Given the description of an element on the screen output the (x, y) to click on. 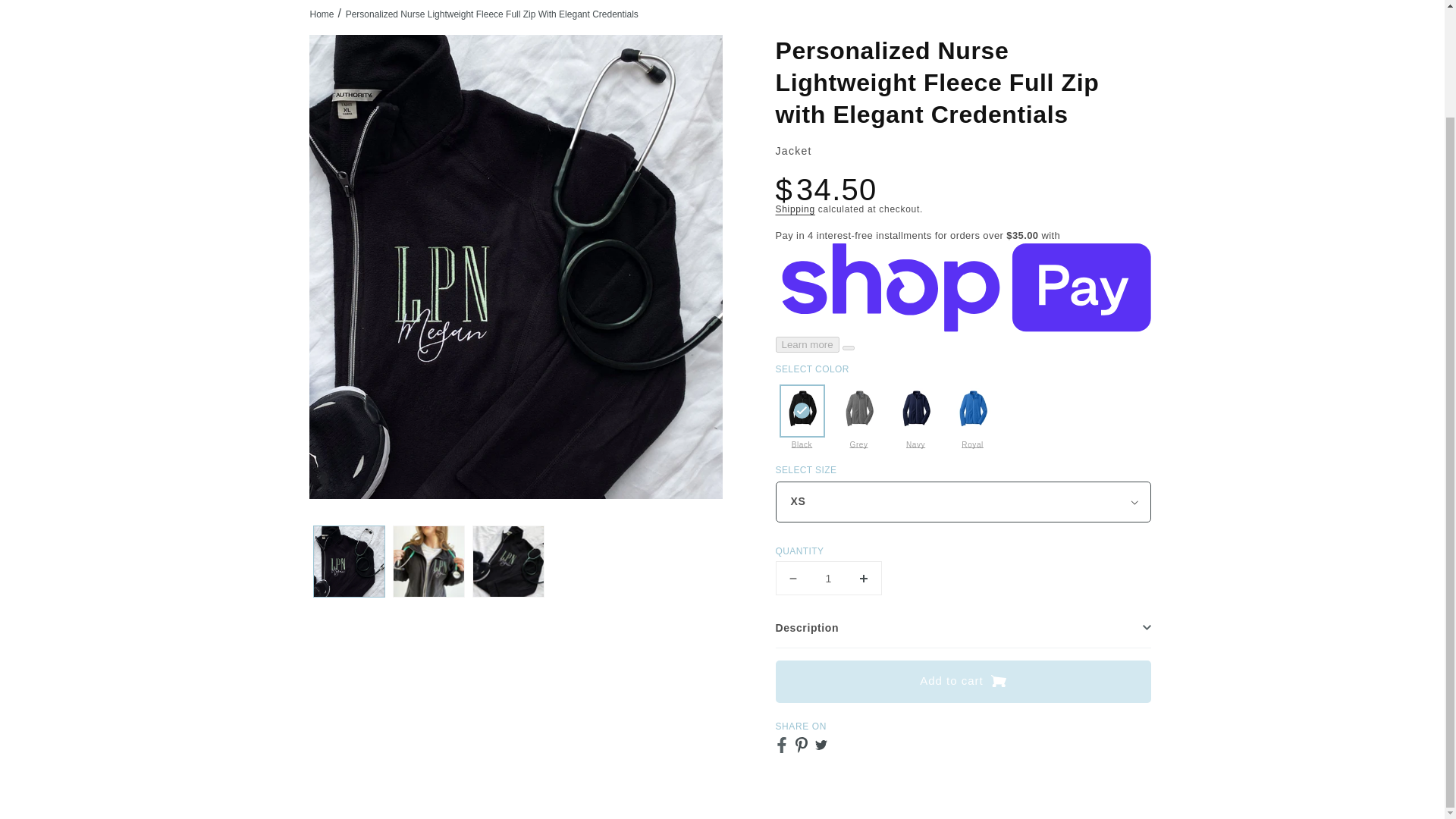
1 (827, 577)
